Given the description of an element on the screen output the (x, y) to click on. 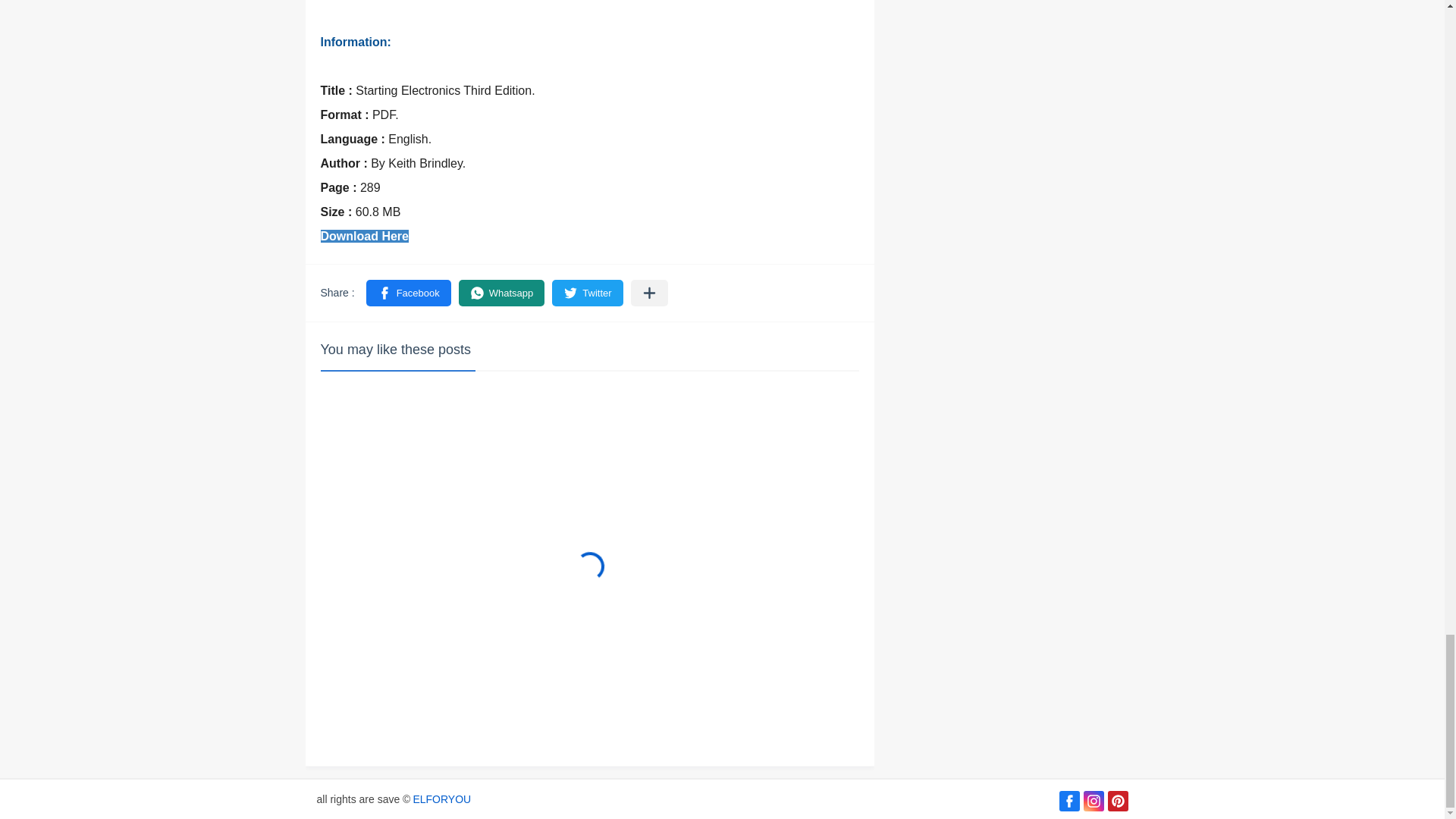
Download Here (363, 235)
ELFORYOU (441, 799)
